Given the description of an element on the screen output the (x, y) to click on. 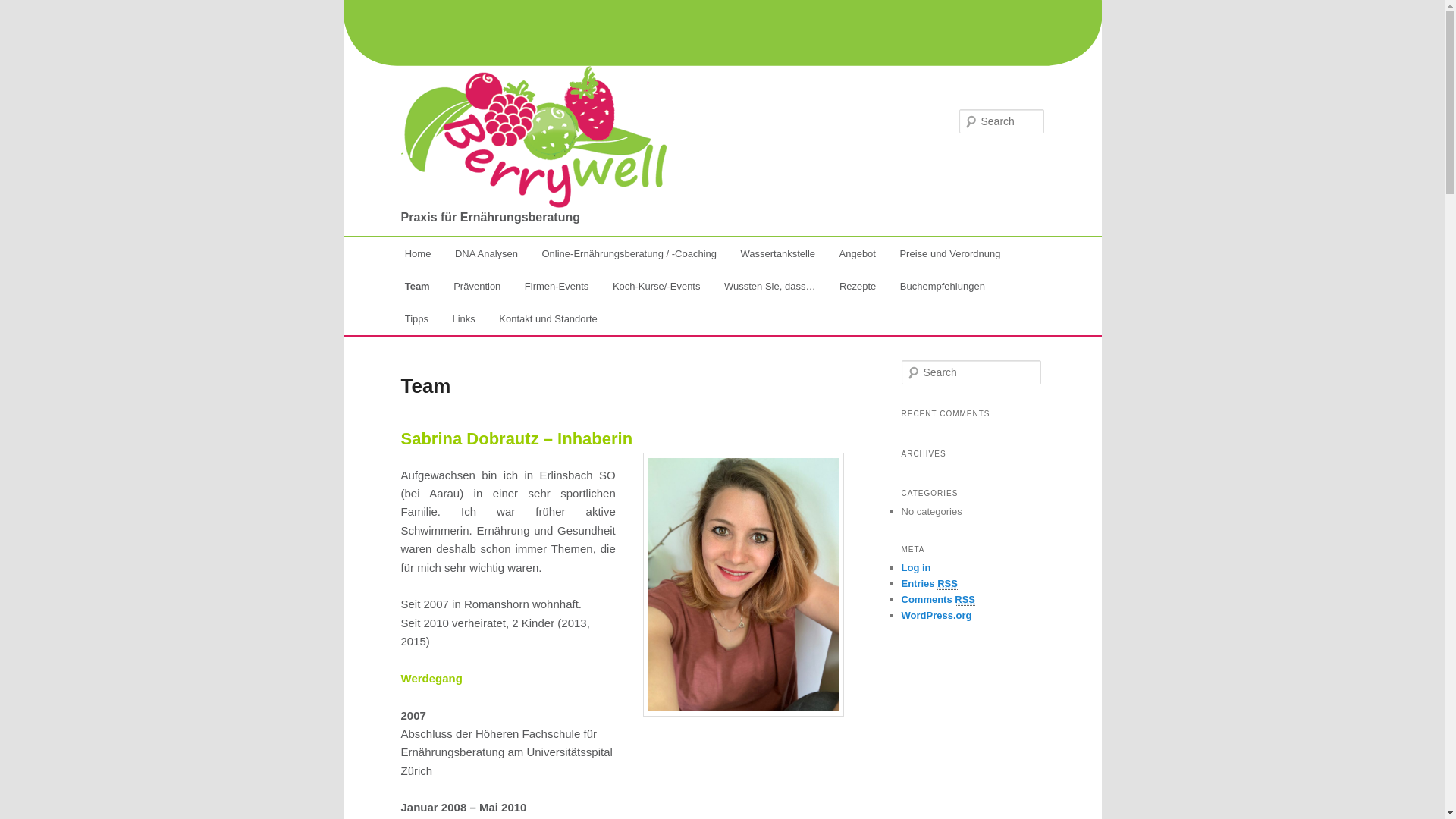
Entries RSS Element type: text (928, 583)
Berry Well Element type: hover (532, 136)
Comments RSS Element type: text (937, 599)
Buchempfehlungen Element type: text (942, 285)
Search Element type: text (20, 10)
Links Element type: text (463, 318)
Wassertankstelle Element type: text (777, 252)
Home Element type: text (417, 252)
Team Element type: text (417, 285)
Search Element type: text (24, 8)
Angebot Element type: text (857, 252)
Skip to primary content Element type: text (472, 255)
Log in Element type: text (915, 567)
DNA Analysen Element type: text (486, 252)
Rezepte Element type: text (857, 285)
Kontakt und Standorte Element type: text (548, 318)
Firmen-Events Element type: text (556, 285)
Tipps Element type: text (416, 318)
Skip to secondary content Element type: text (479, 255)
Koch-Kurse/-Events Element type: text (656, 285)
WordPress.org Element type: text (935, 615)
Preise und Verordnung Element type: text (950, 252)
